Given the description of an element on the screen output the (x, y) to click on. 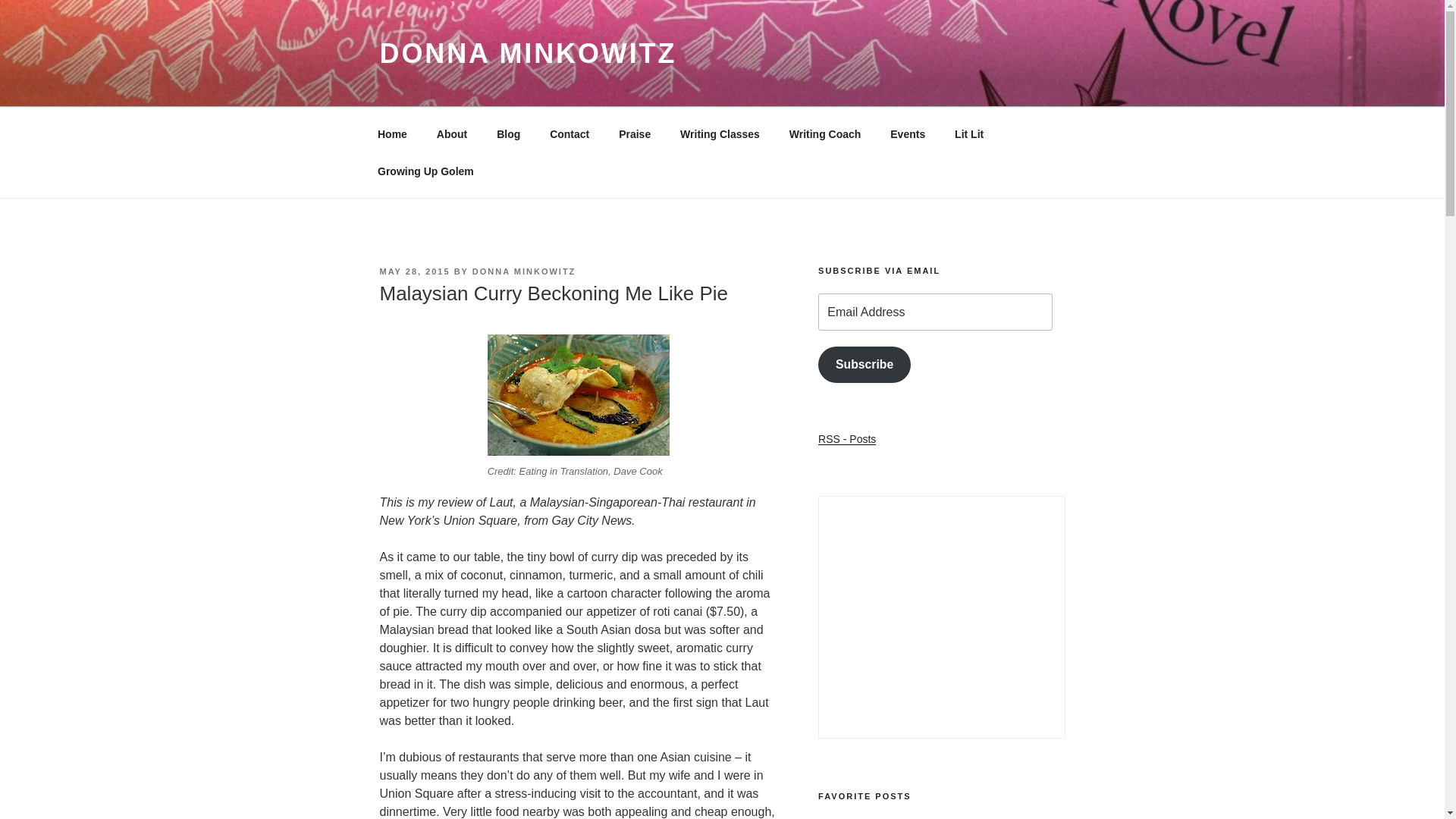
Growing Up Golem (425, 171)
Writing Classes (719, 133)
Home (392, 133)
Events (908, 133)
Lit Lit (969, 133)
DONNA MINKOWITZ (527, 52)
About (451, 133)
Praise (634, 133)
MAY 28, 2015 (413, 271)
Blog (508, 133)
Contact (569, 133)
Writing Coach (825, 133)
DONNA MINKOWITZ (523, 271)
